Given the description of an element on the screen output the (x, y) to click on. 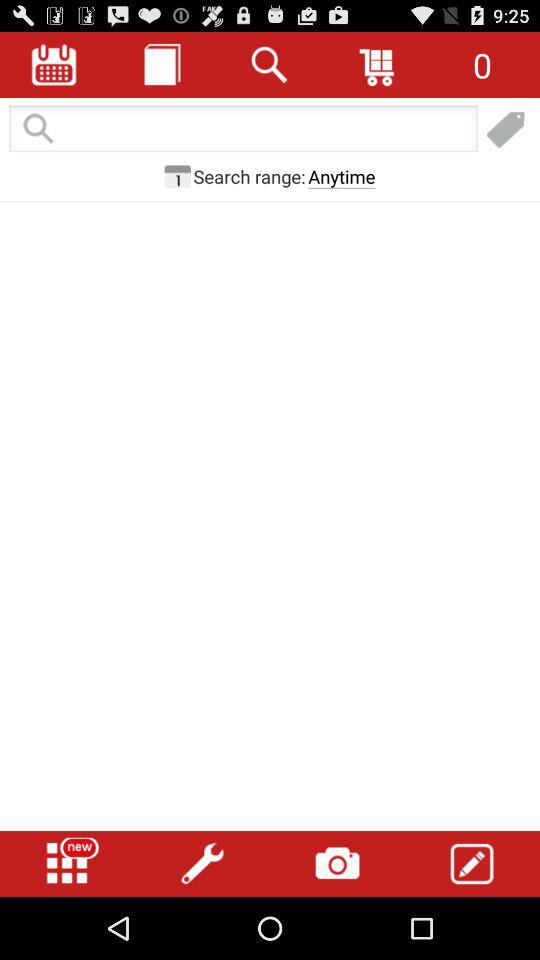
journal entries (161, 64)
